Given the description of an element on the screen output the (x, y) to click on. 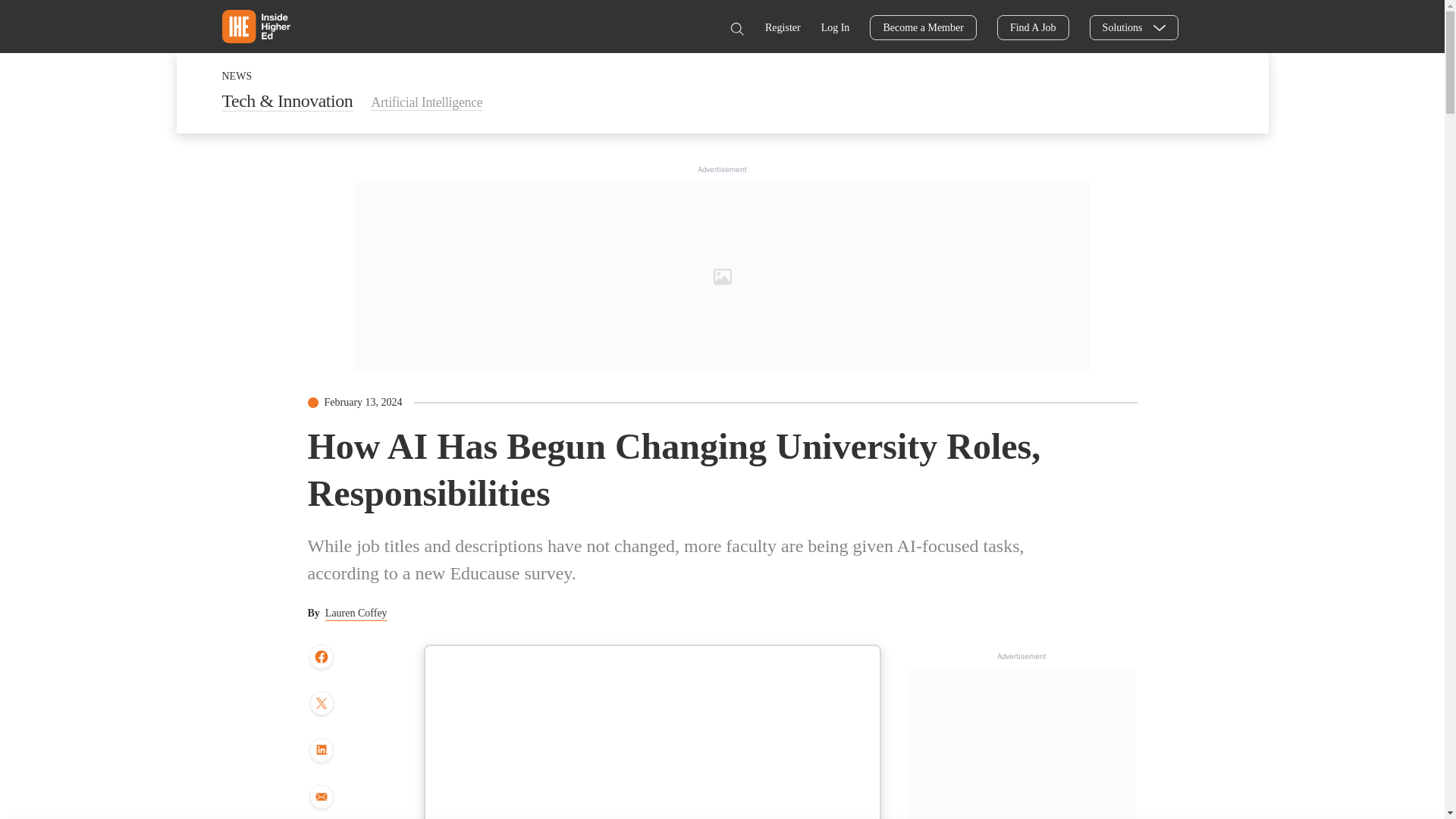
share to twitter (320, 705)
Search (736, 28)
share by email (320, 797)
Find A Job (1032, 27)
Home (255, 26)
share to facebook (320, 657)
share to Linkedin (320, 750)
Become a Member (922, 27)
